Given the description of an element on the screen output the (x, y) to click on. 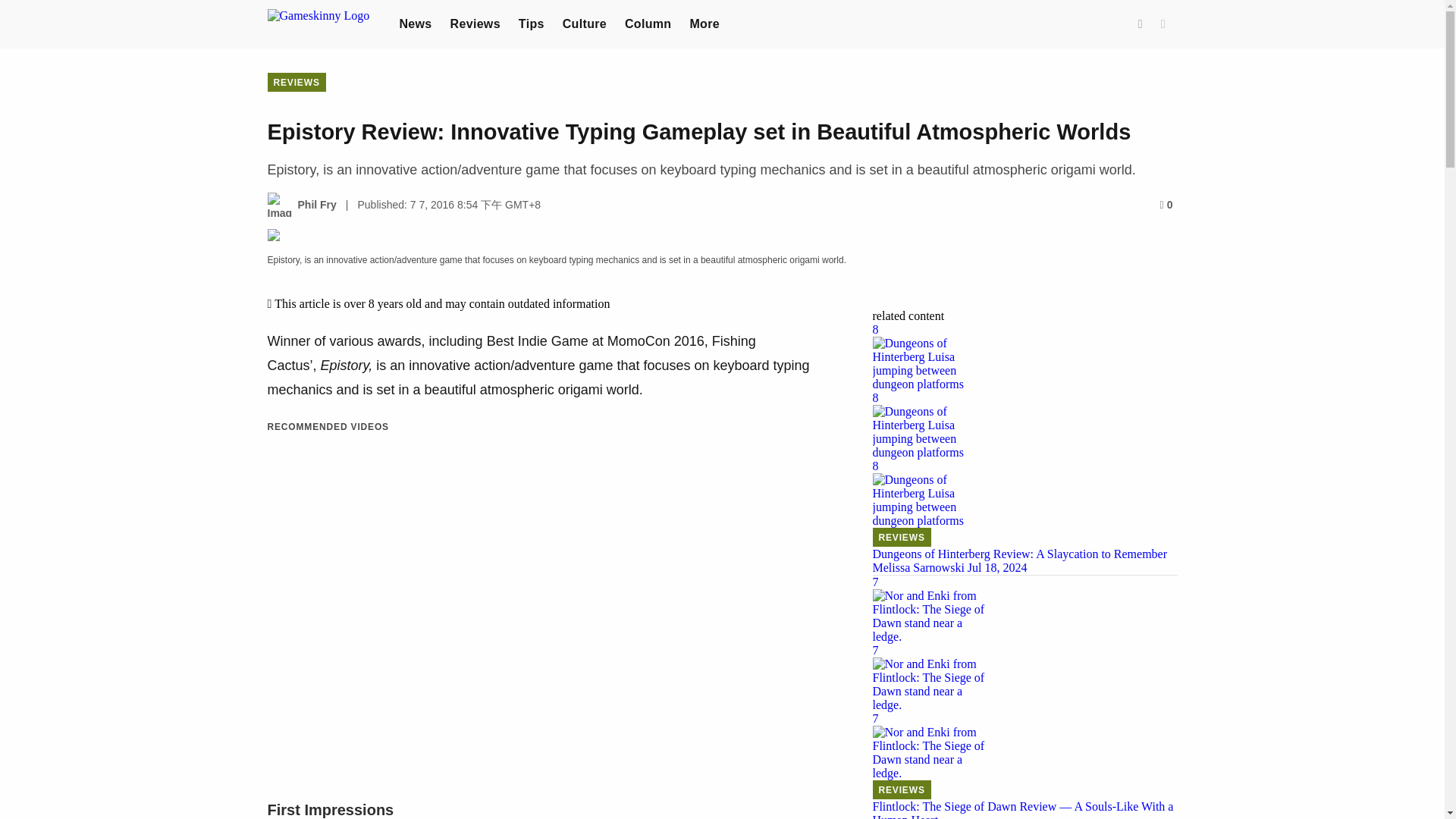
Reviews (474, 23)
News (414, 23)
Culture (584, 23)
Column (647, 23)
Tips (531, 23)
